Given the description of an element on the screen output the (x, y) to click on. 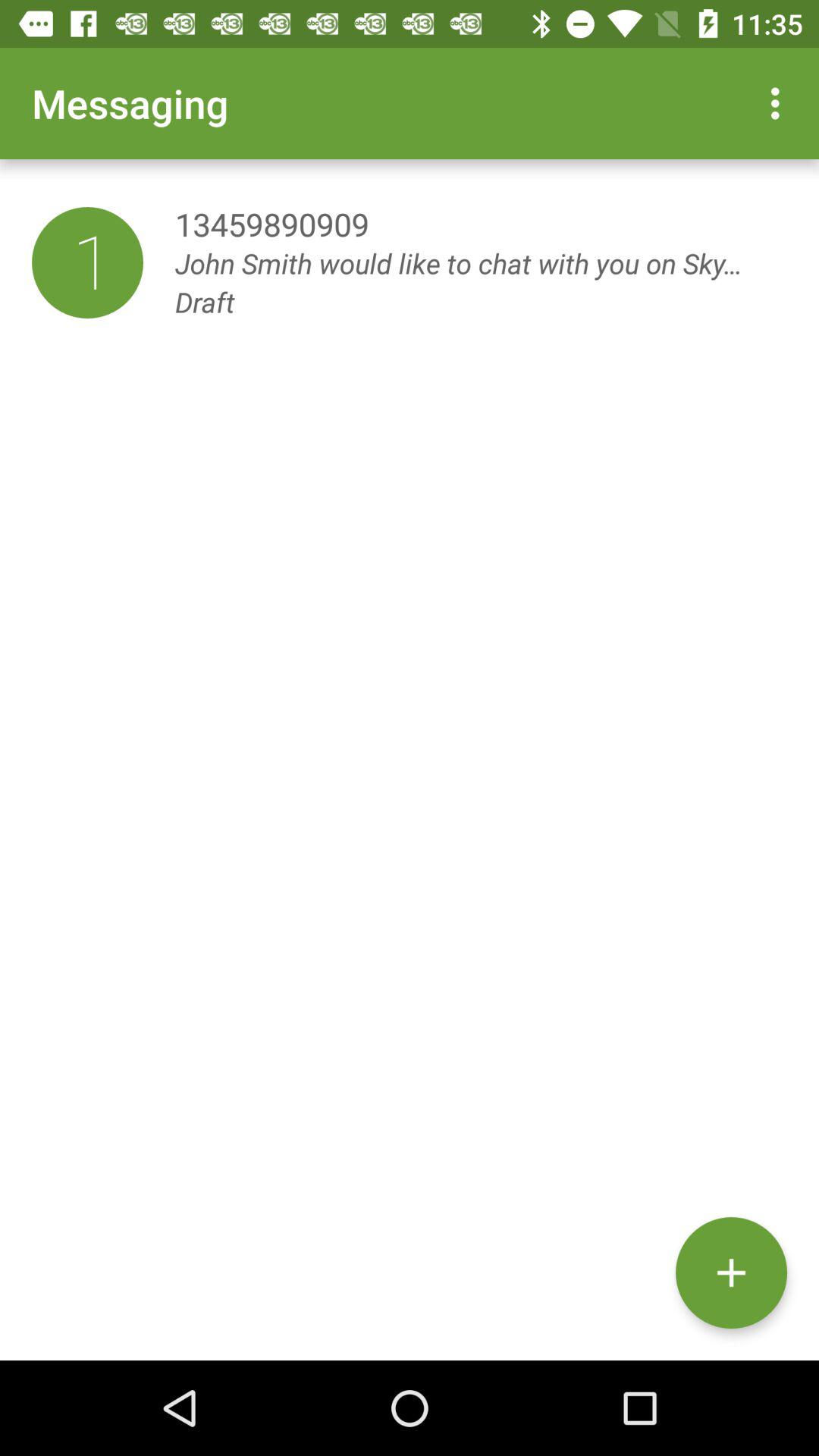
press the item to the left of 13459890909 item (87, 262)
